Given the description of an element on the screen output the (x, y) to click on. 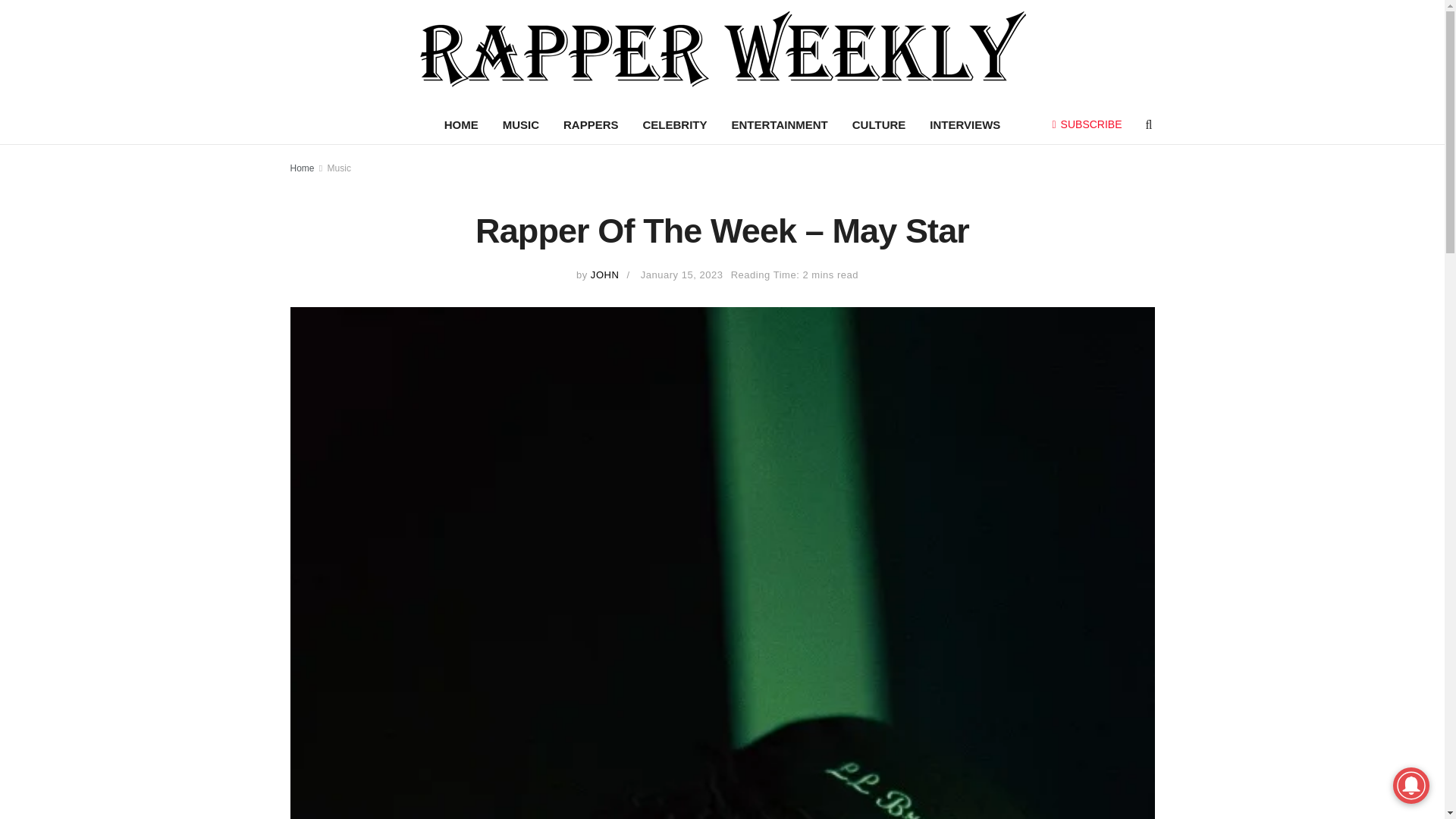
CELEBRITY (674, 125)
Music (338, 167)
SUBSCRIBE (1087, 123)
CULTURE (879, 125)
JOHN (604, 274)
January 15, 2023 (681, 274)
MUSIC (520, 125)
INTERVIEWS (964, 125)
ENTERTAINMENT (779, 125)
HOME (461, 125)
RAPPERS (590, 125)
Home (301, 167)
